Given the description of an element on the screen output the (x, y) to click on. 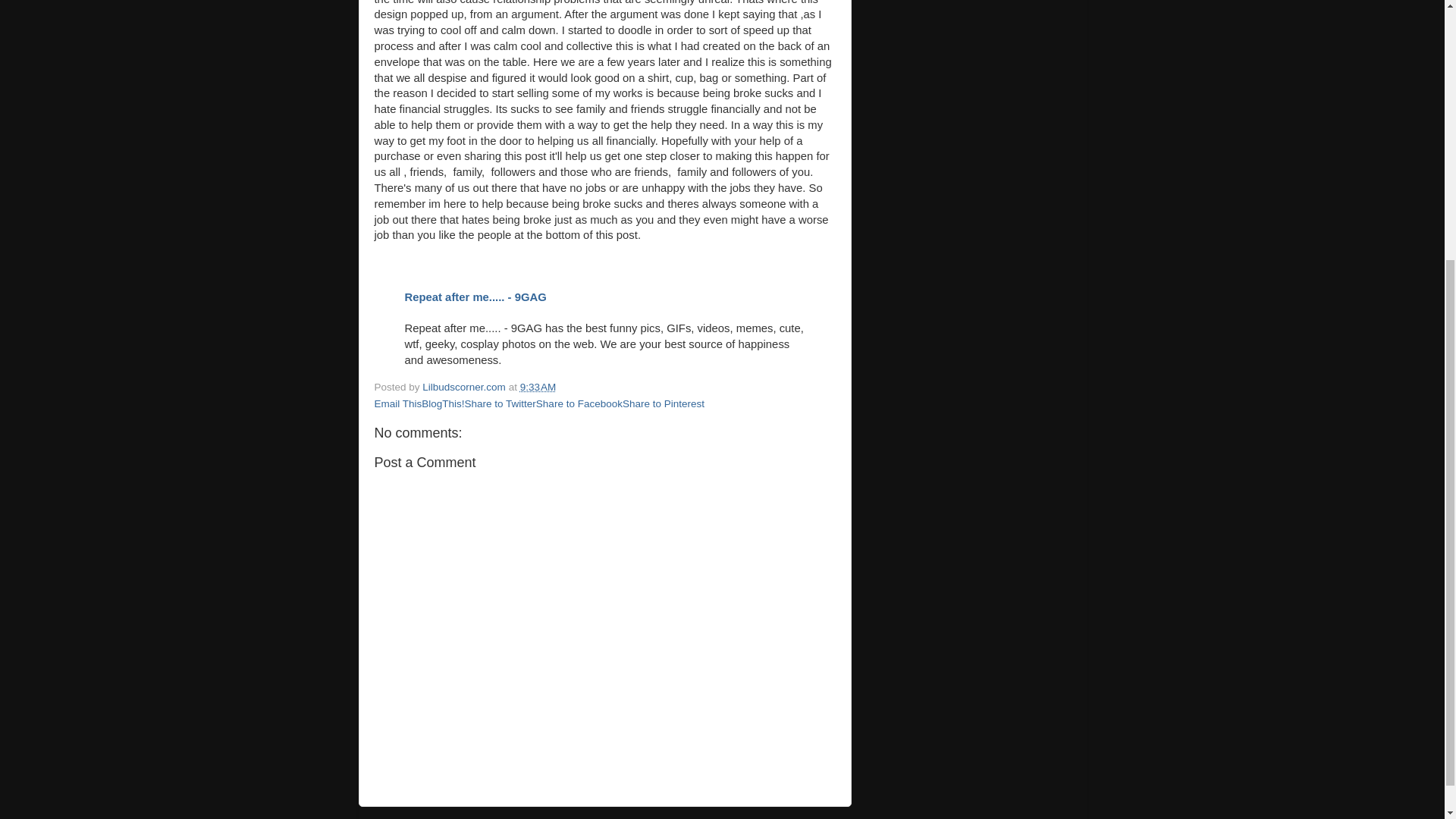
Email This (398, 403)
Share to Facebook (579, 403)
BlogThis! (443, 403)
Repeat after me..... - 9GAG (475, 297)
Share to Pinterest (663, 403)
Share to Twitter (499, 403)
Share to Twitter (499, 403)
Share to Facebook (579, 403)
Email This (398, 403)
